Given the description of an element on the screen output the (x, y) to click on. 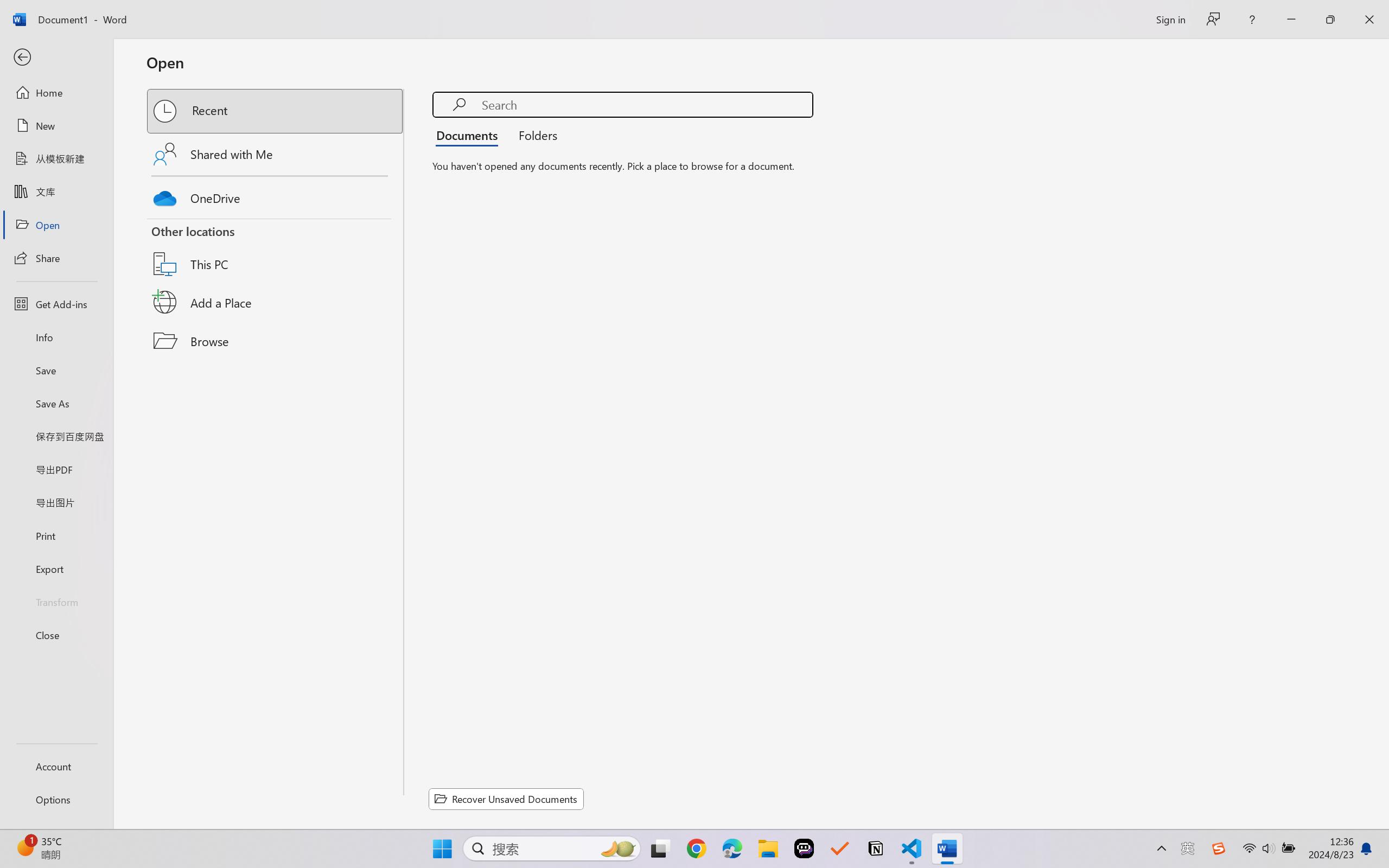
Shared with Me (275, 153)
Add a Place (275, 302)
OneDrive (275, 195)
Print (56, 535)
New (56, 125)
Info (56, 337)
